Given the description of an element on the screen output the (x, y) to click on. 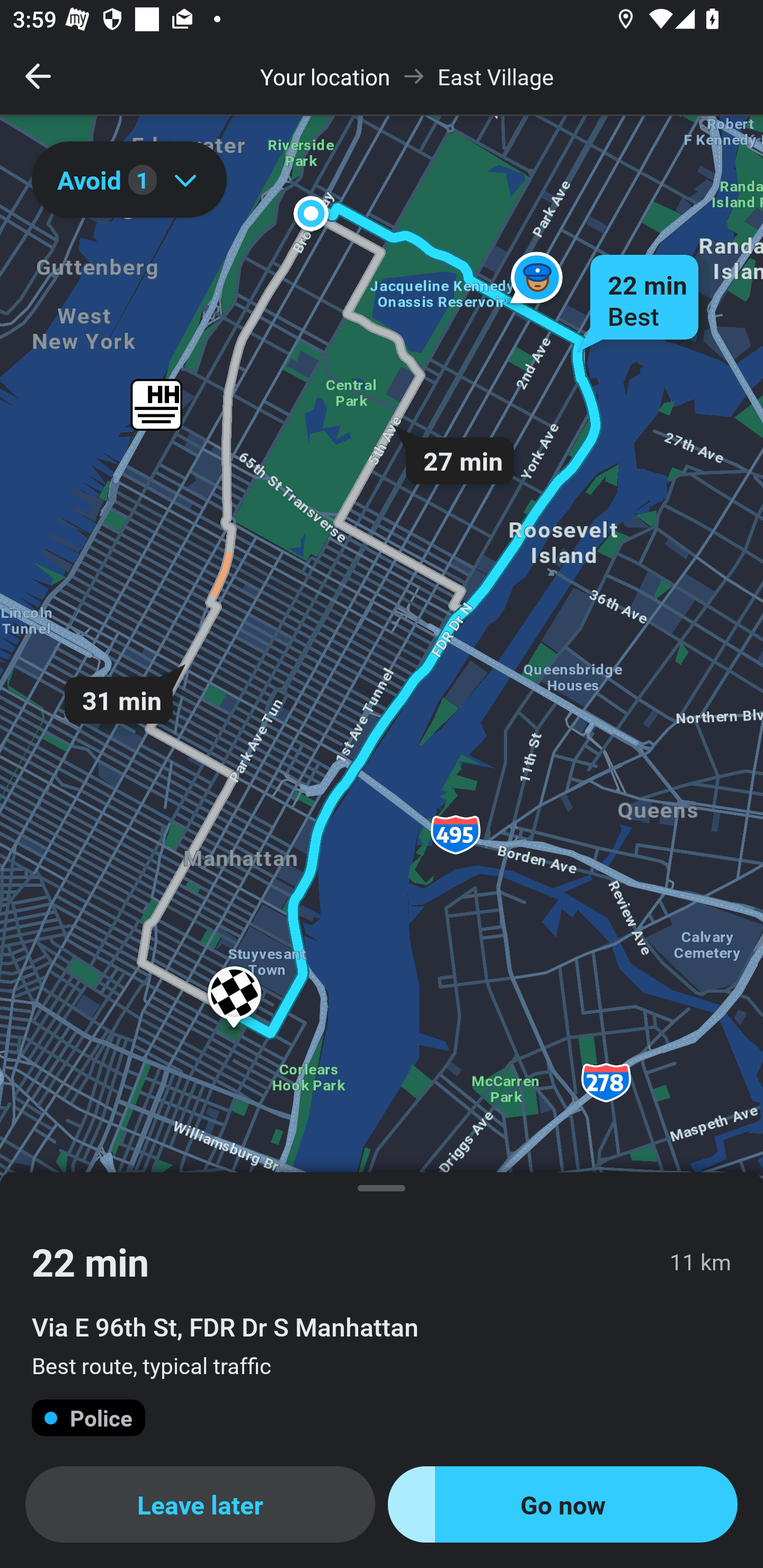
Leave later (200, 1504)
Go now (562, 1504)
